Given the description of an element on the screen output the (x, y) to click on. 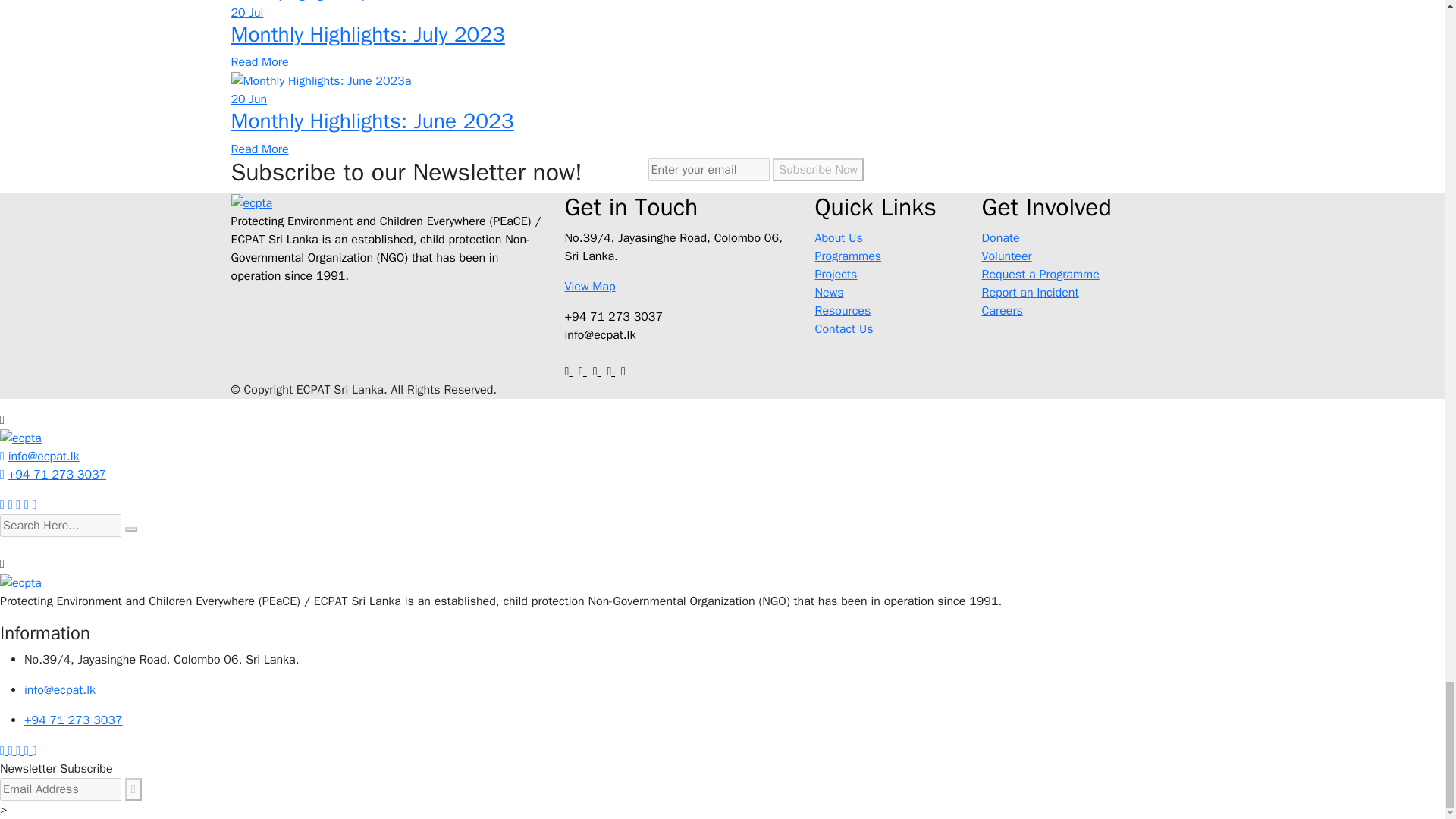
back top (22, 545)
back top (22, 545)
